Given the description of an element on the screen output the (x, y) to click on. 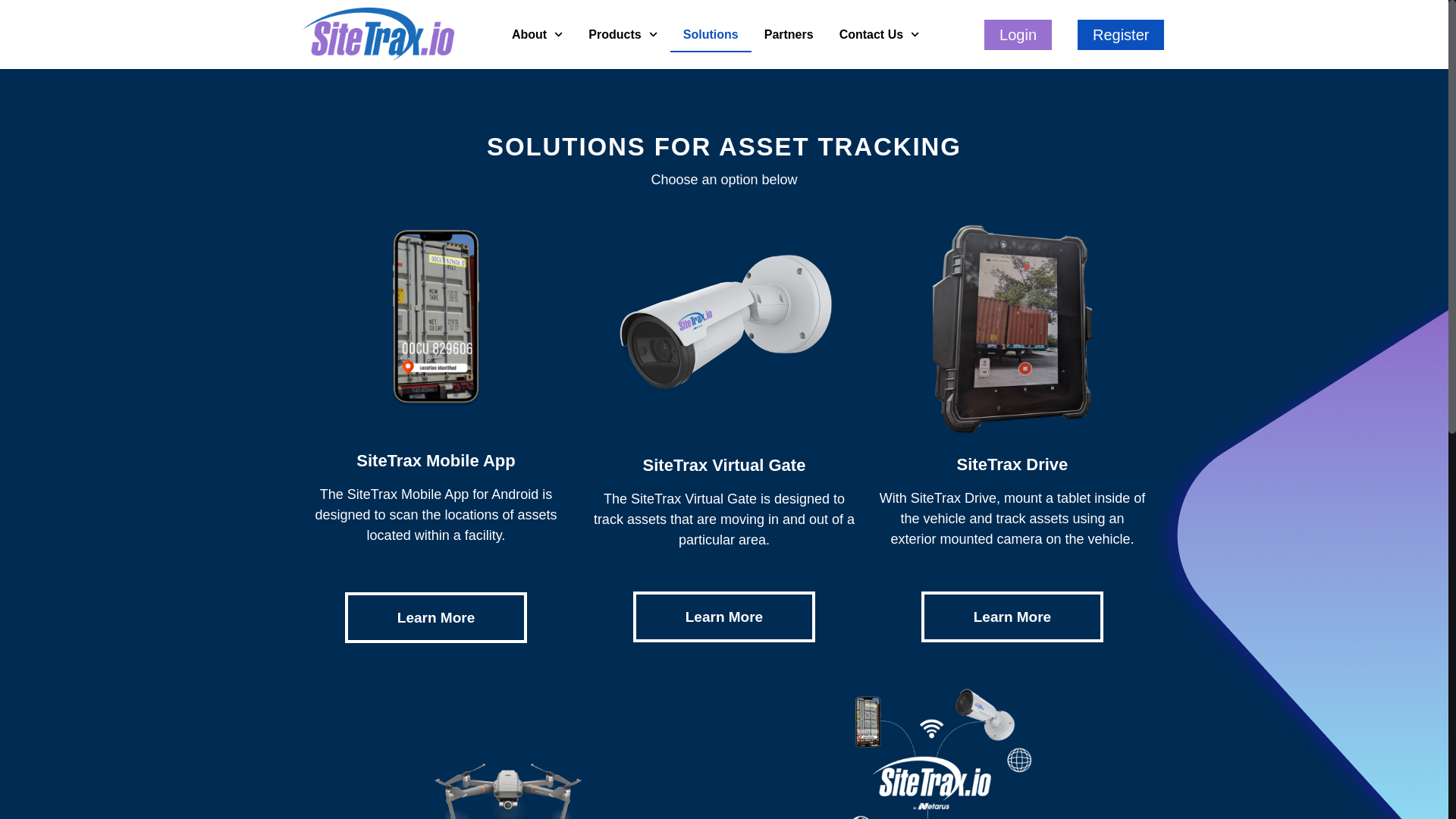
Login (1017, 34)
About (537, 34)
Products (622, 34)
Solutions (710, 34)
Partners (789, 34)
Register (1120, 34)
Contact Us (880, 34)
